Given the description of an element on the screen output the (x, y) to click on. 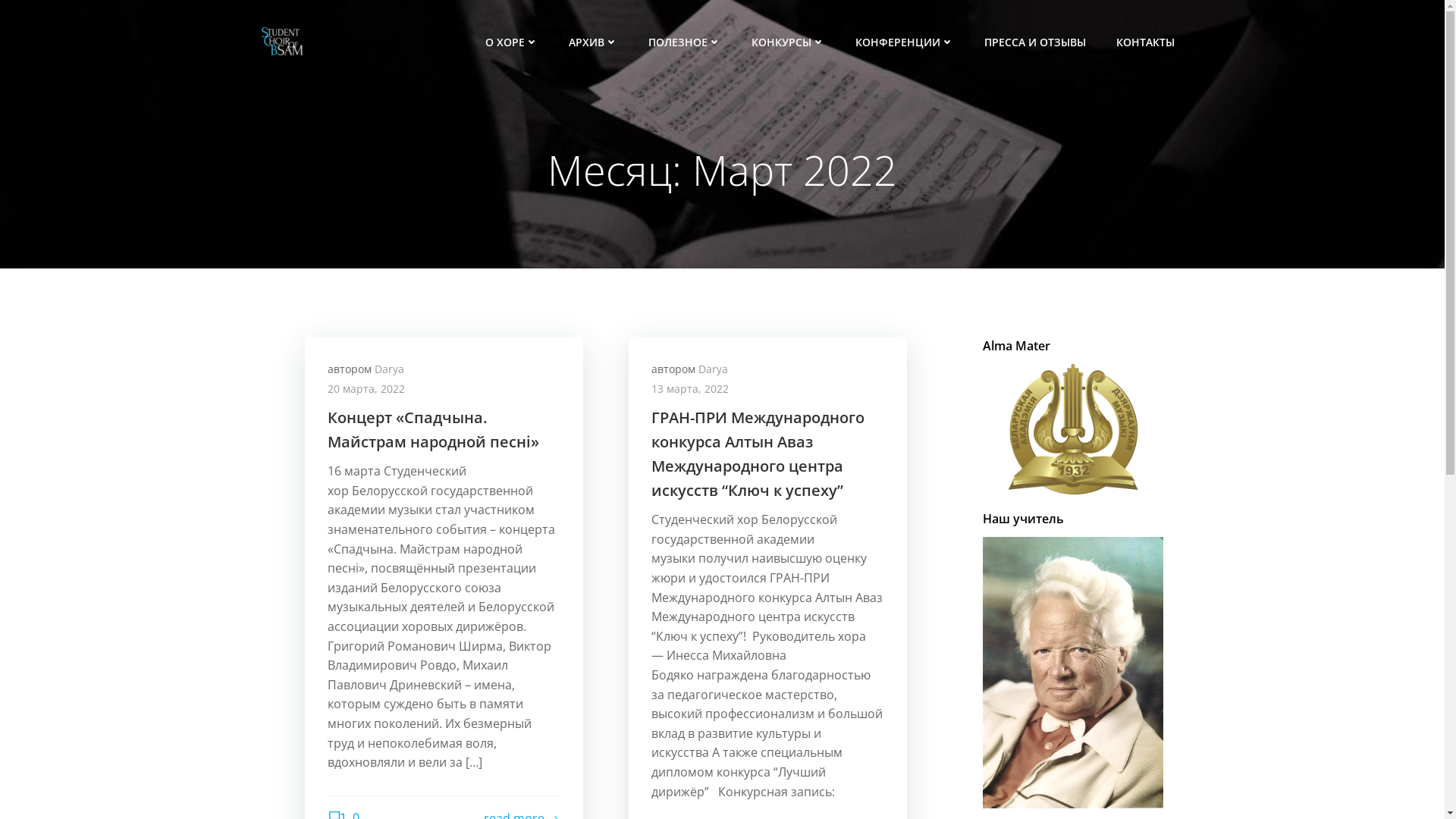
ColibriWP Theme Element type: text (1001, 773)
Darya Element type: text (389, 368)
Darya Element type: text (712, 368)
